Given the description of an element on the screen output the (x, y) to click on. 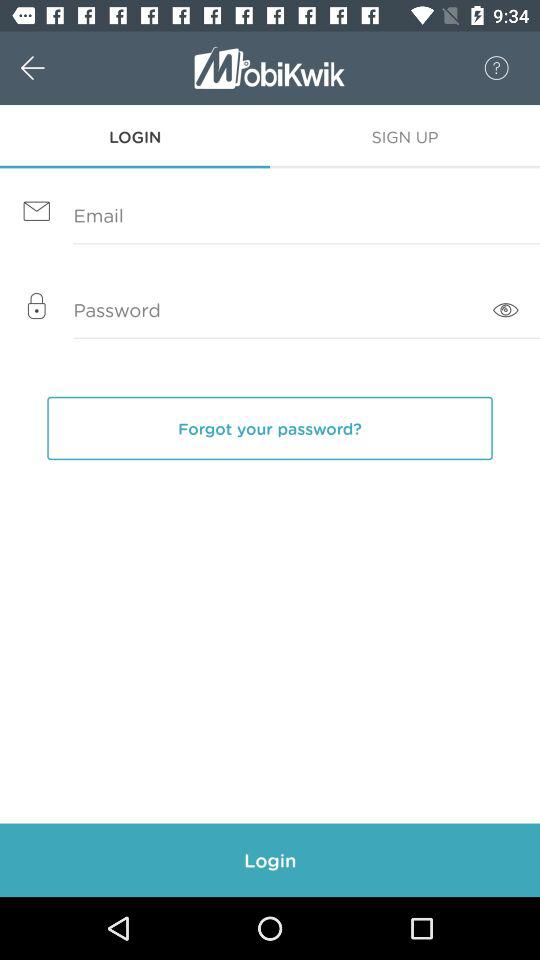
turn on icon next to the r icon (54, 68)
